Given the description of an element on the screen output the (x, y) to click on. 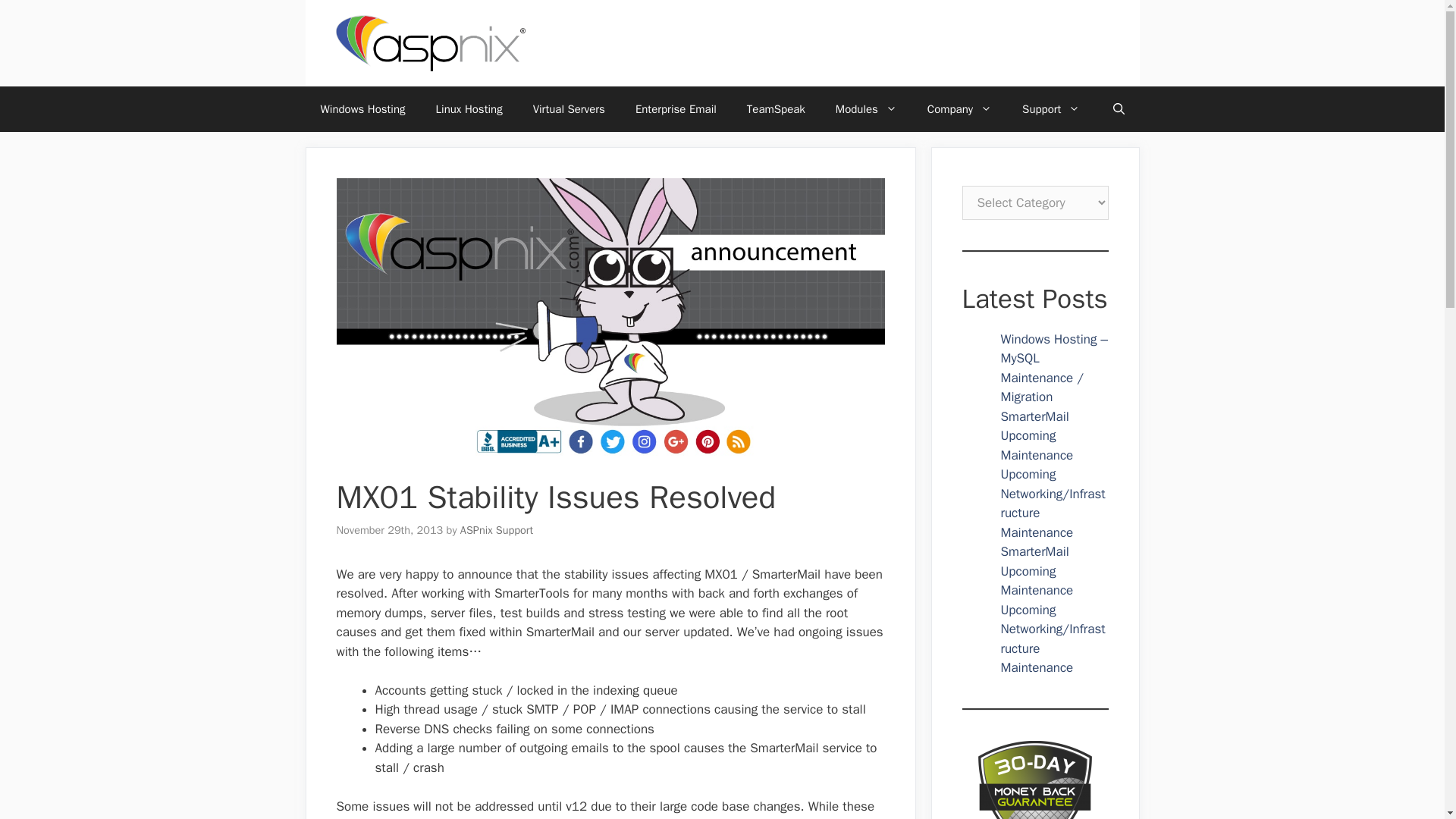
Linux Hosting (469, 108)
Enterprise Email (676, 108)
Company (959, 108)
WHMCS Modules (866, 108)
Virtual Servers (569, 108)
TeamSpeak (776, 108)
TeamSpeak (776, 108)
Modules (866, 108)
Hosted Email (676, 108)
Windows Hosting (362, 108)
Linux Hosting (469, 108)
ASPnix Support (496, 530)
Support (1050, 108)
Windows Hosting (362, 108)
Virtual Cloud Servers (569, 108)
